Given the description of an element on the screen output the (x, y) to click on. 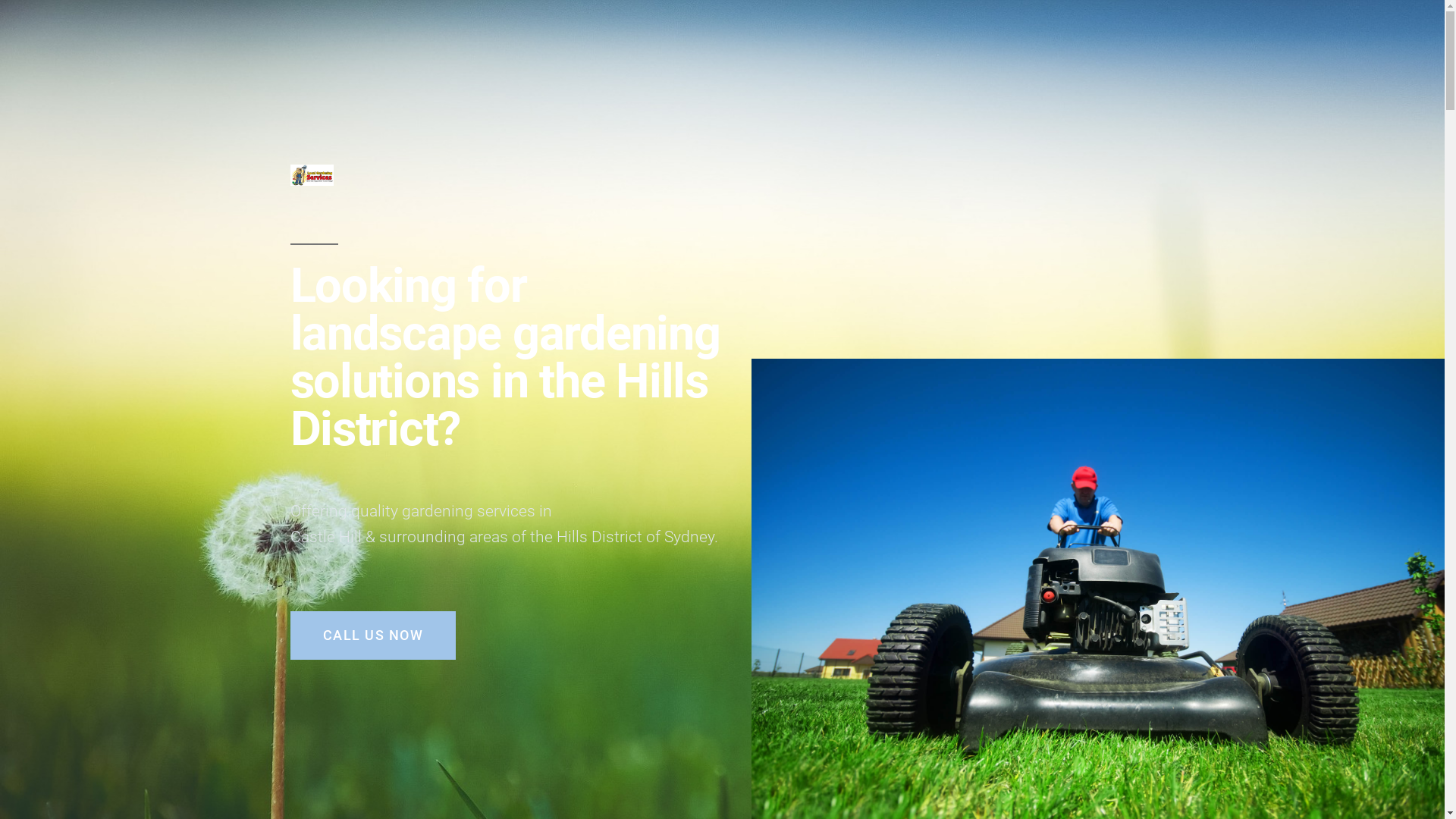
CALL US NOW Element type: text (372, 635)
